Given the description of an element on the screen output the (x, y) to click on. 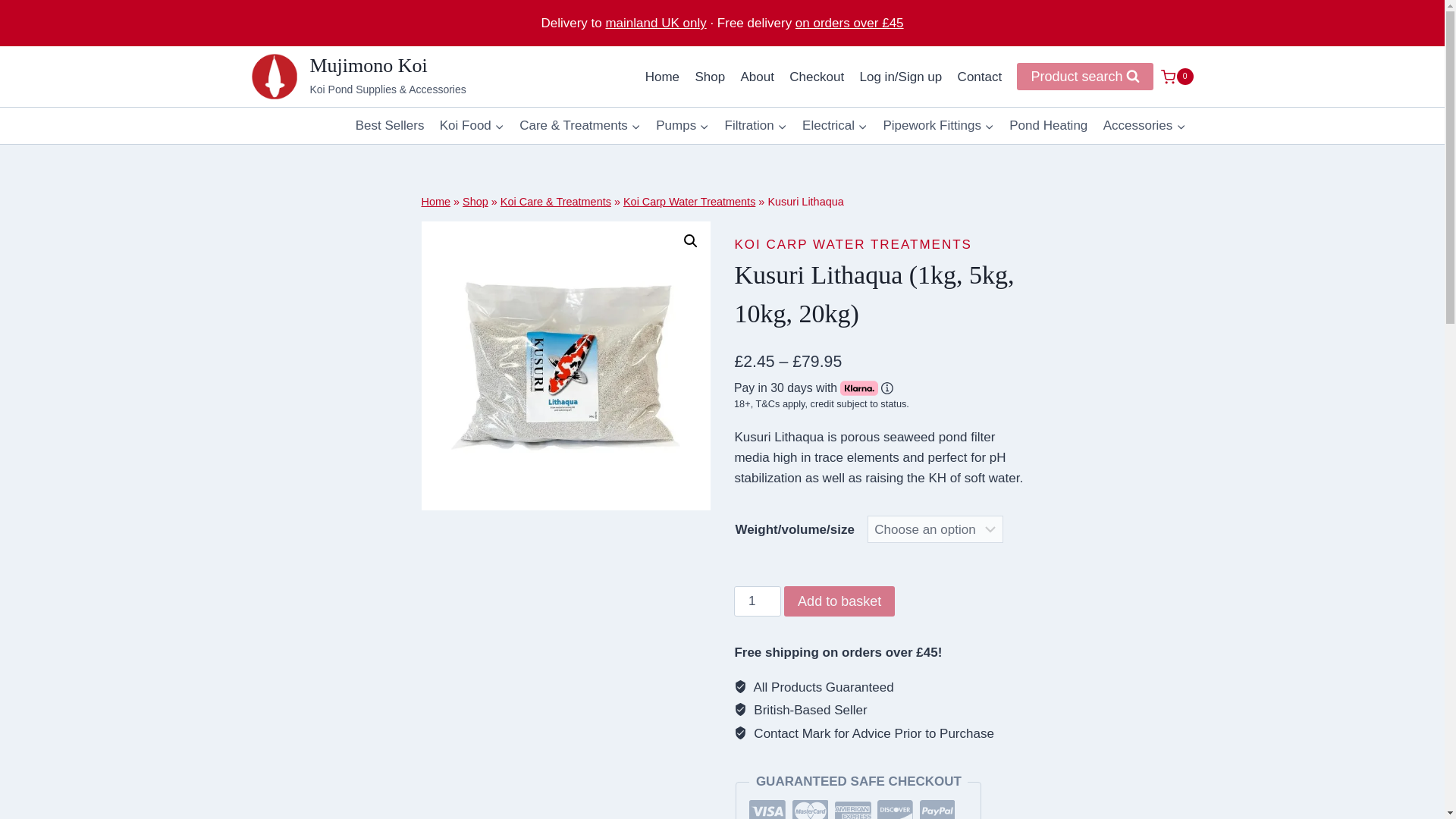
Filtration (755, 125)
Pumps (681, 125)
About (756, 76)
Shop (709, 76)
1 (756, 601)
Electrical (834, 125)
Payment method messaging (875, 395)
Best Sellers (389, 125)
Home (662, 76)
uc (566, 365)
Contact (979, 76)
mainland UK only (655, 22)
Product search (1084, 76)
0 (1176, 76)
Checkout (816, 76)
